Given the description of an element on the screen output the (x, y) to click on. 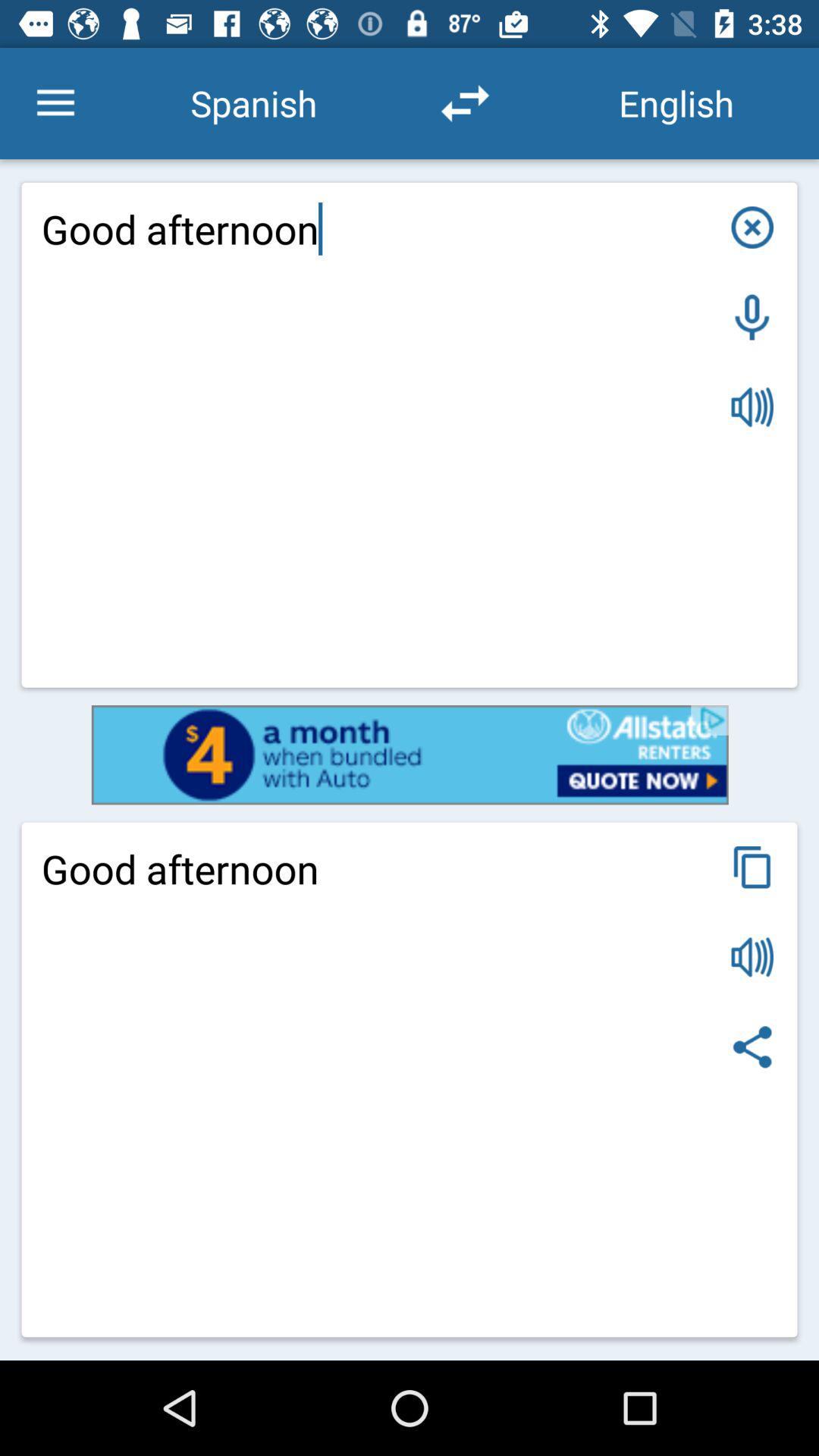
go to play (752, 407)
